Given the description of an element on the screen output the (x, y) to click on. 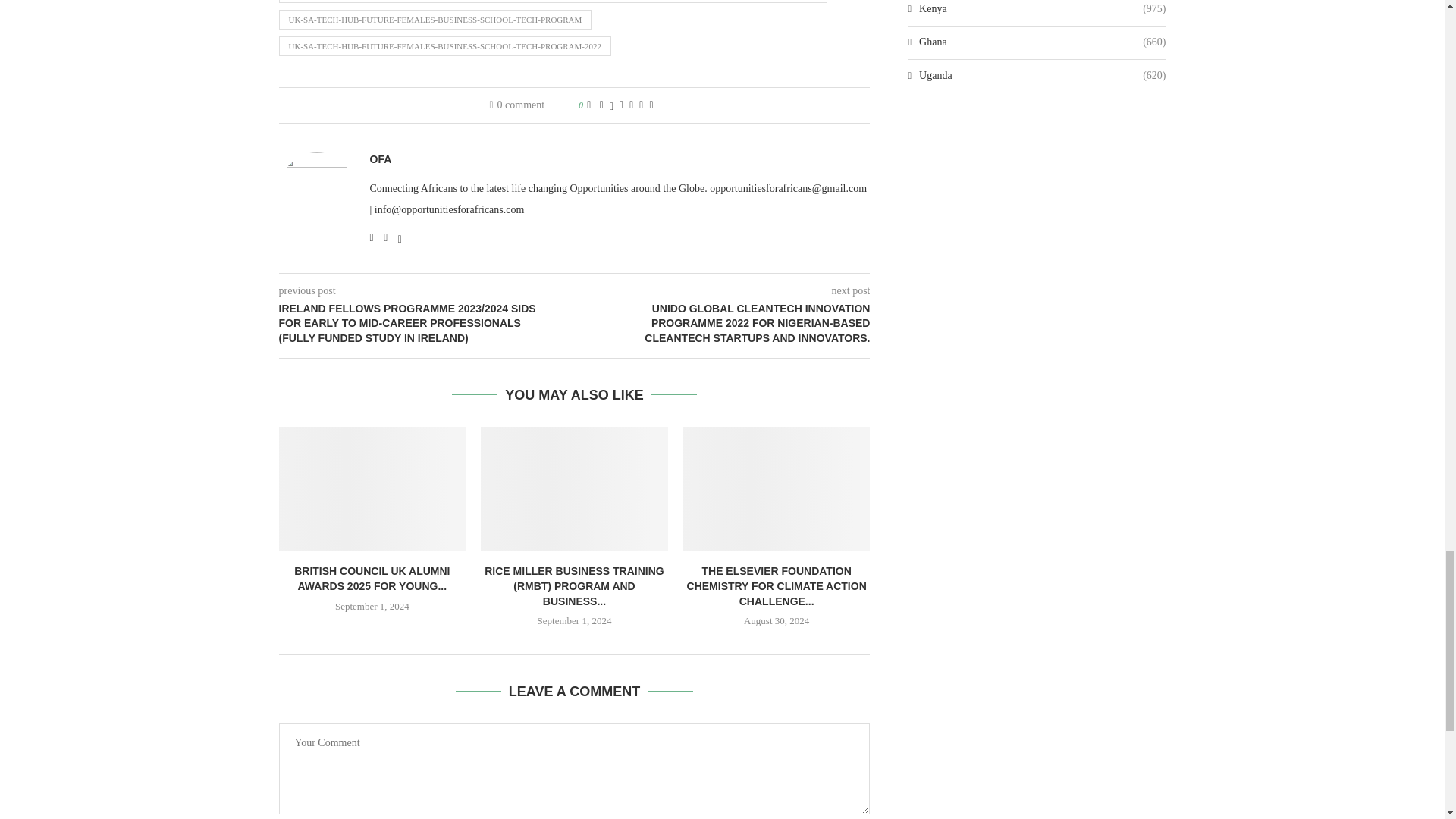
Author OFA (380, 159)
UK-SA-TECH-HUB-FUTURE-FEMALES-BUSINESS-SCHOOL-TECH-PROGRAM (435, 19)
